Given the description of an element on the screen output the (x, y) to click on. 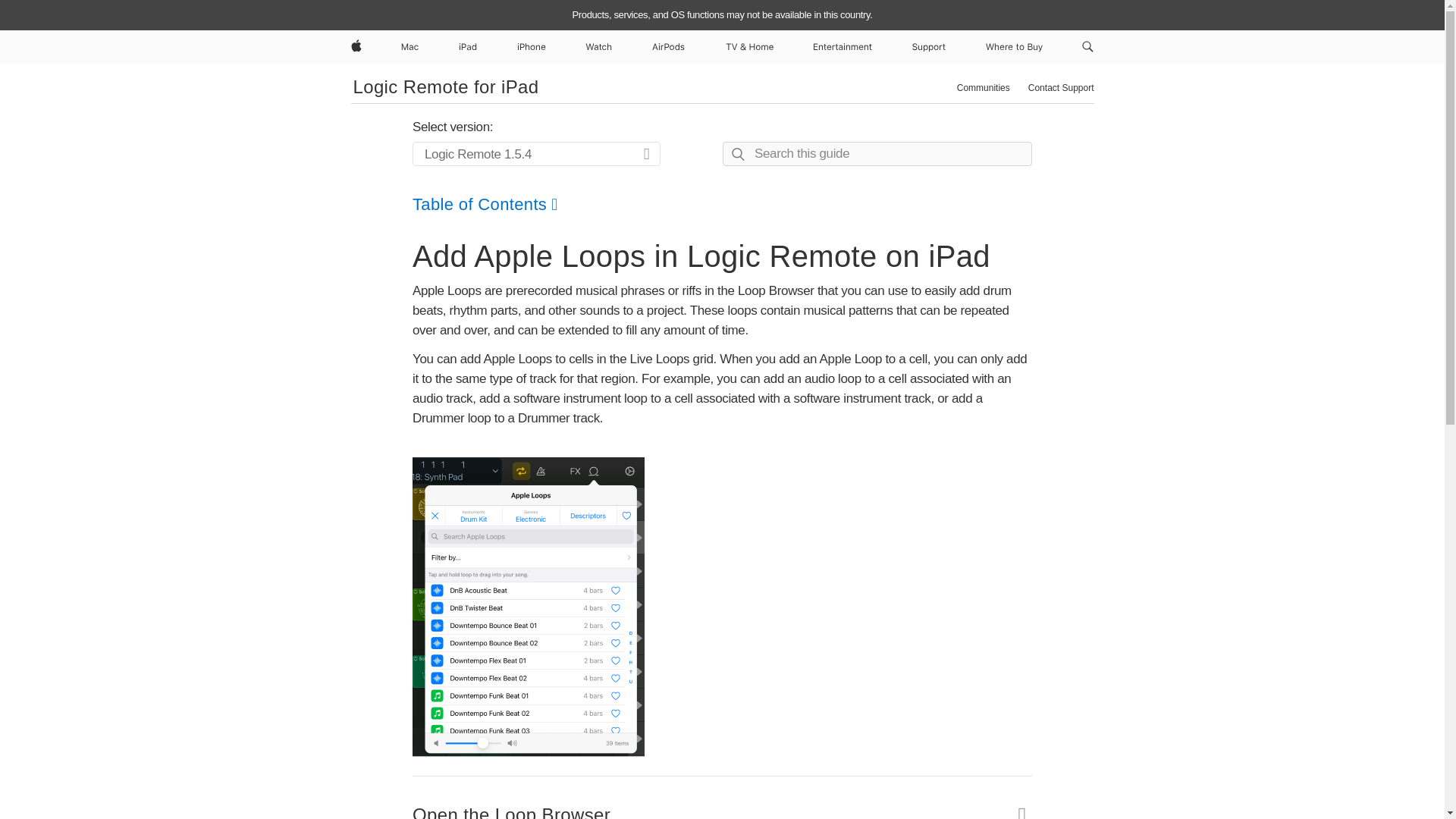
iPhone (531, 46)
iPad (467, 46)
